Given the description of an element on the screen output the (x, y) to click on. 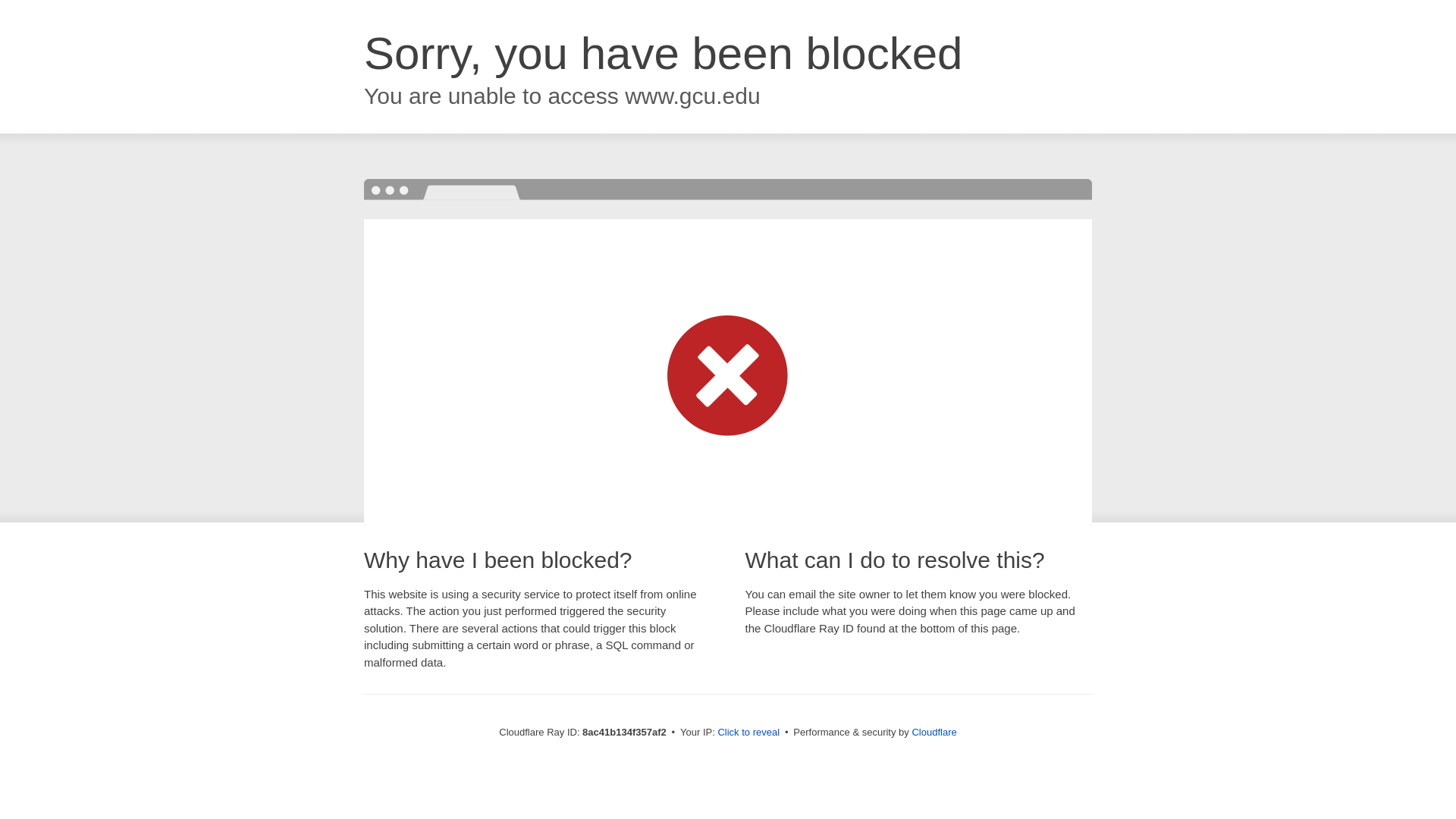
Click to reveal (747, 732)
Cloudflare (933, 731)
